Given the description of an element on the screen output the (x, y) to click on. 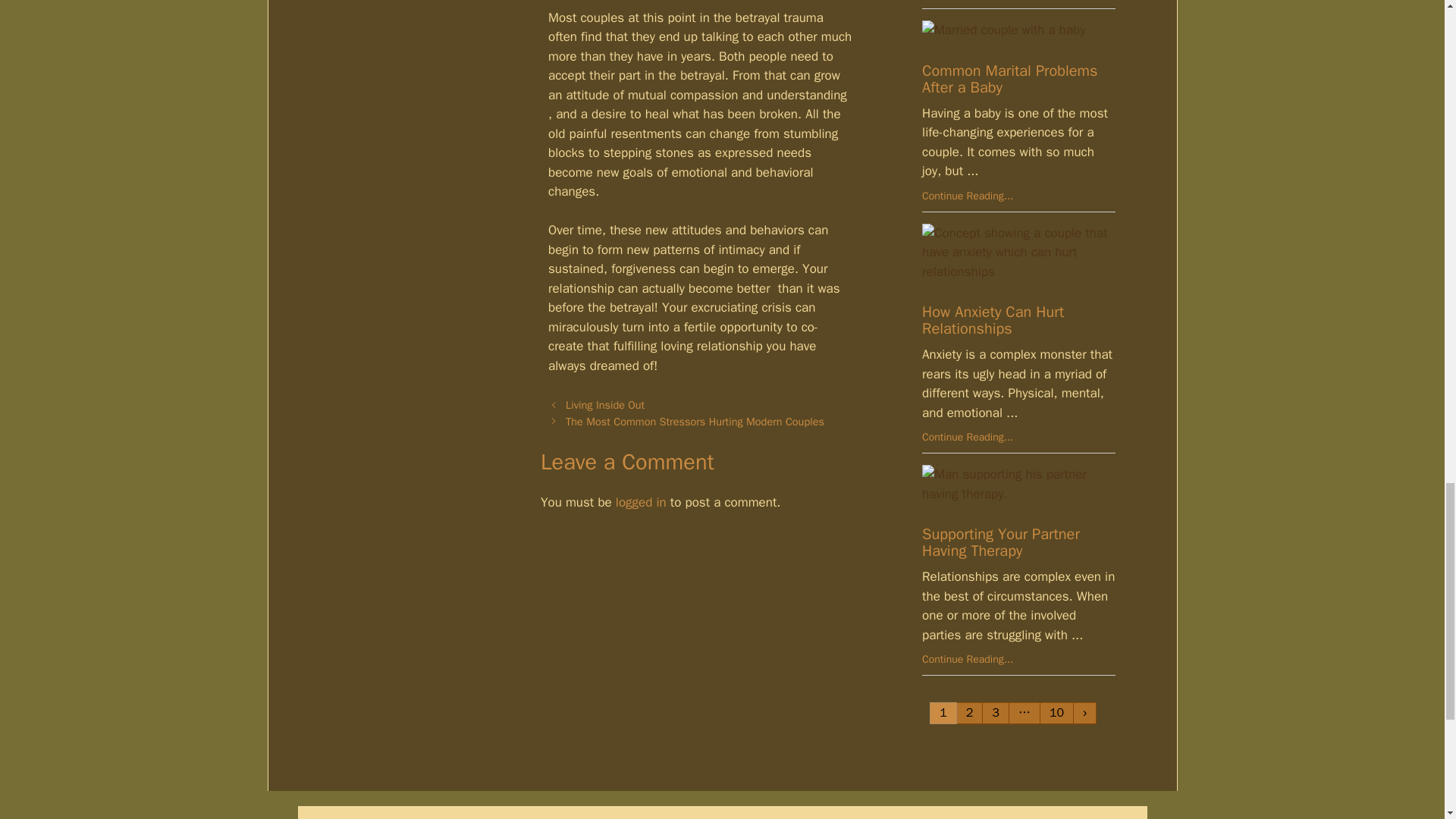
The Most Common Stressors Hurting Modern Couples (695, 421)
logged in (640, 502)
Living Inside Out (605, 404)
